Given the description of an element on the screen output the (x, y) to click on. 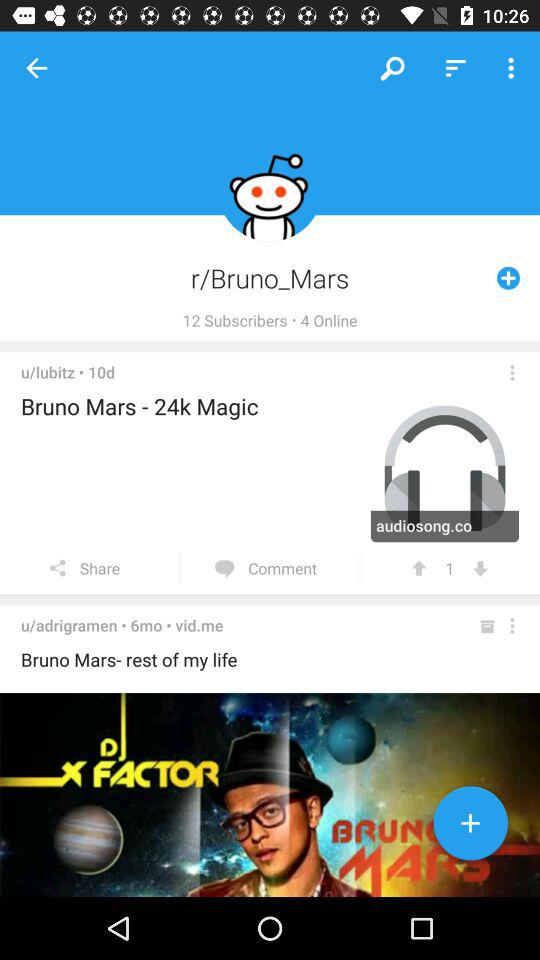
add button (470, 827)
